Given the description of an element on the screen output the (x, y) to click on. 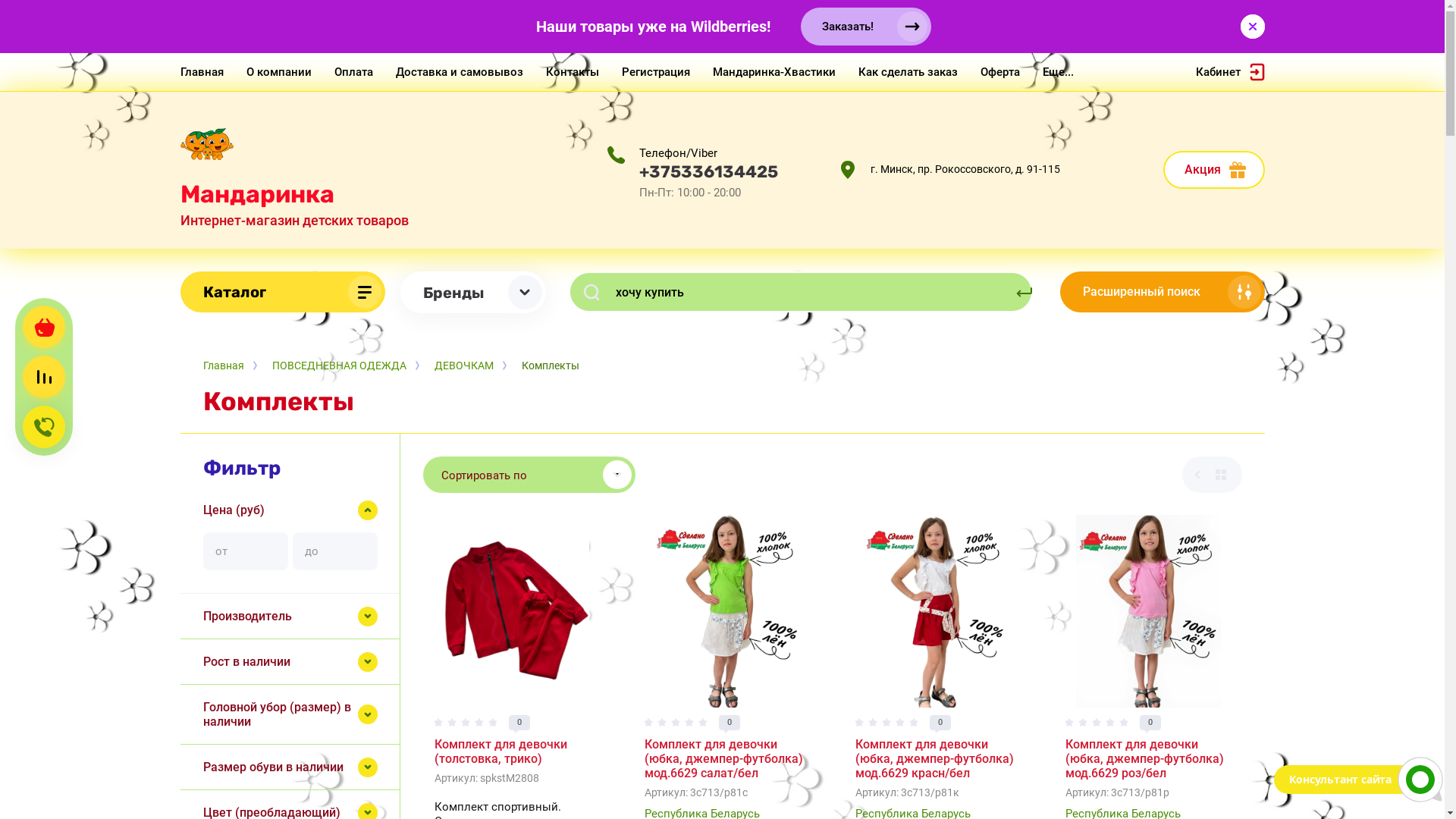
+375336134425 Element type: text (707, 171)
